Given the description of an element on the screen output the (x, y) to click on. 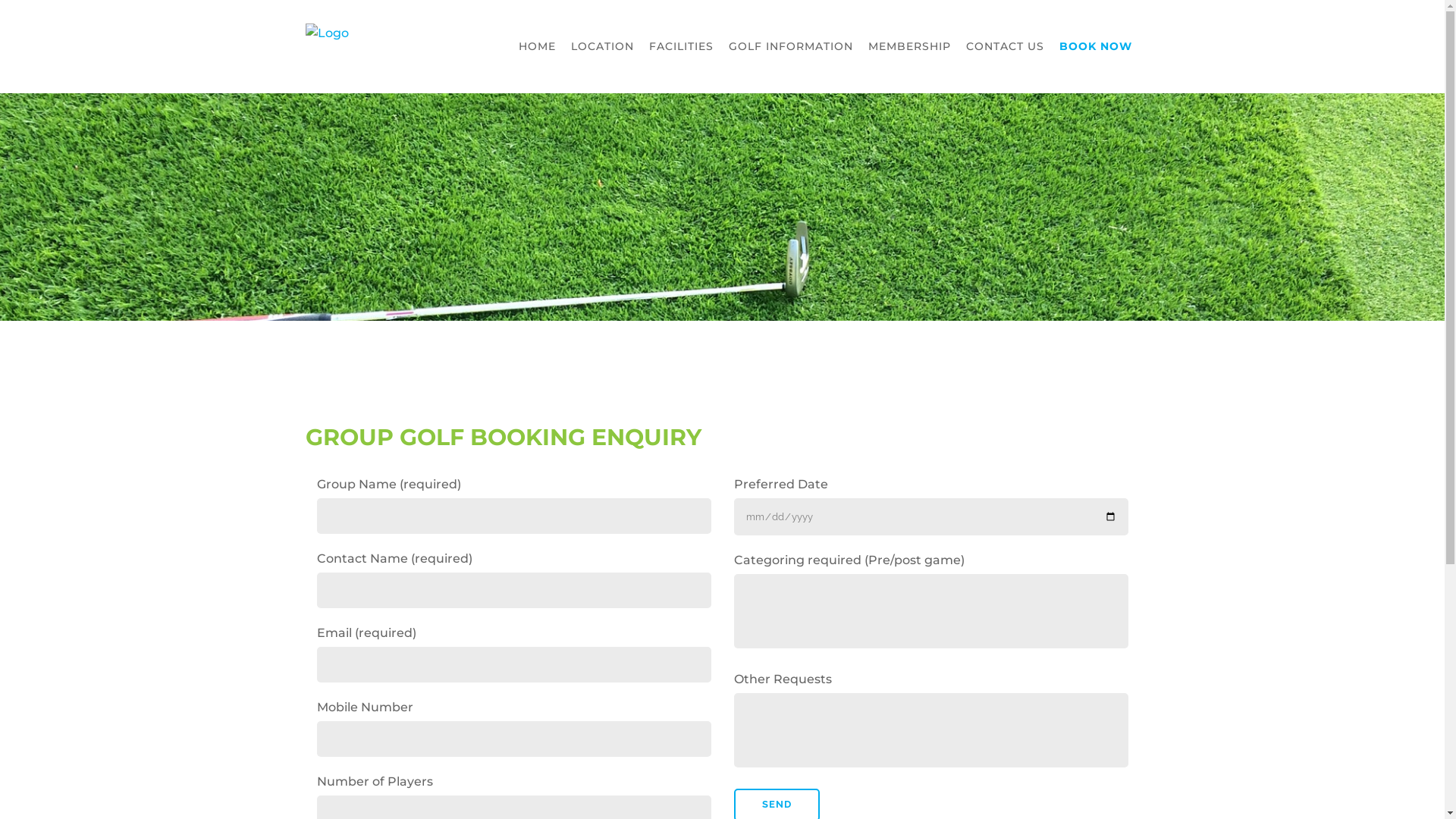
GOLF INFORMATION Element type: text (789, 46)
LOCATION Element type: text (601, 46)
CONTACT US Element type: text (1004, 46)
HOME Element type: text (537, 46)
MEMBERSHIP Element type: text (908, 46)
BOOK NOW Element type: text (1095, 46)
FACILITIES Element type: text (681, 46)
